Given the description of an element on the screen output the (x, y) to click on. 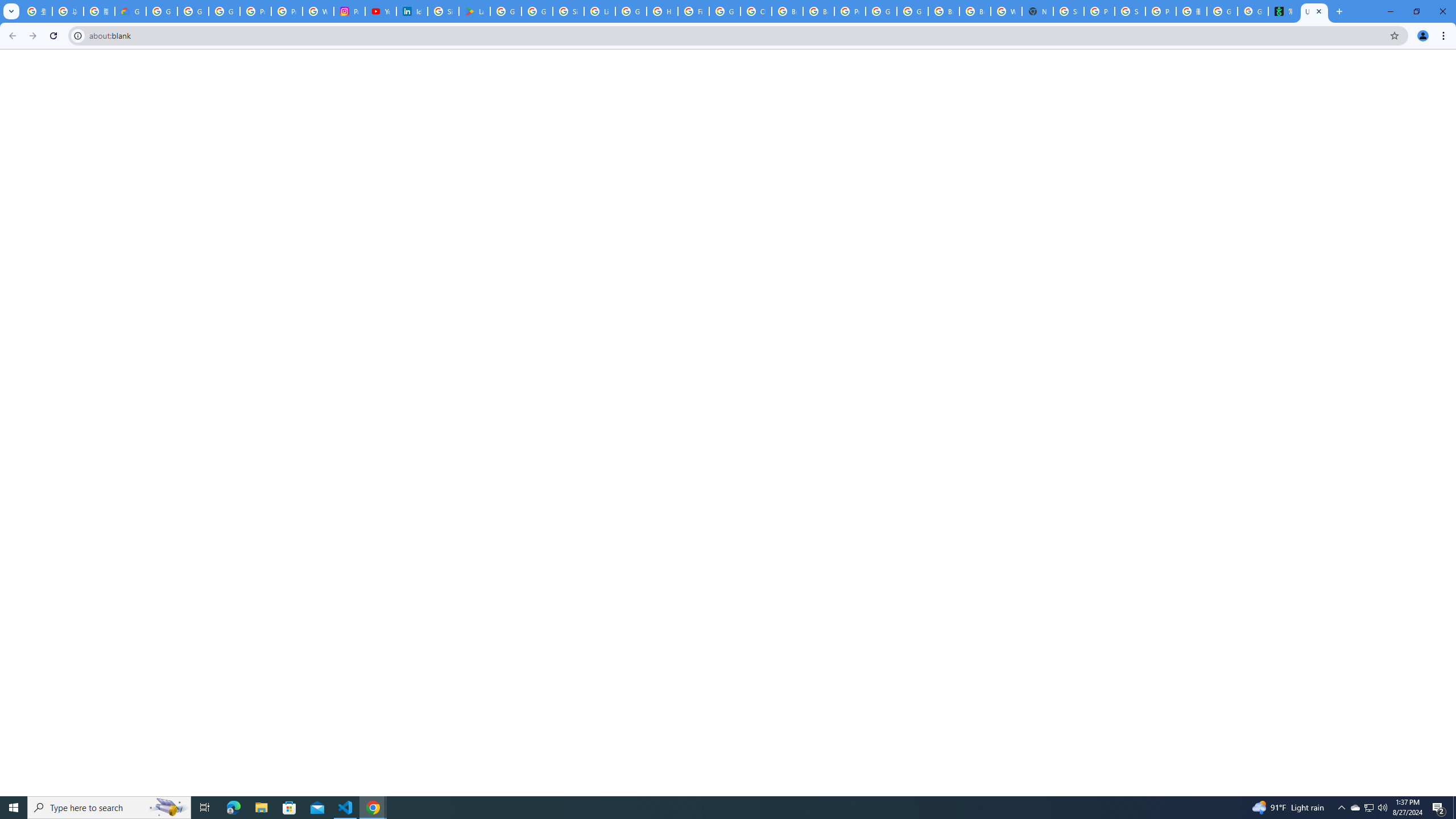
Last Shelter: Survival - Apps on Google Play (474, 11)
Browse Chrome as a guest - Computer - Google Chrome Help (787, 11)
New Tab (1037, 11)
Google Workspace - Specific Terms (536, 11)
